Given the description of an element on the screen output the (x, y) to click on. 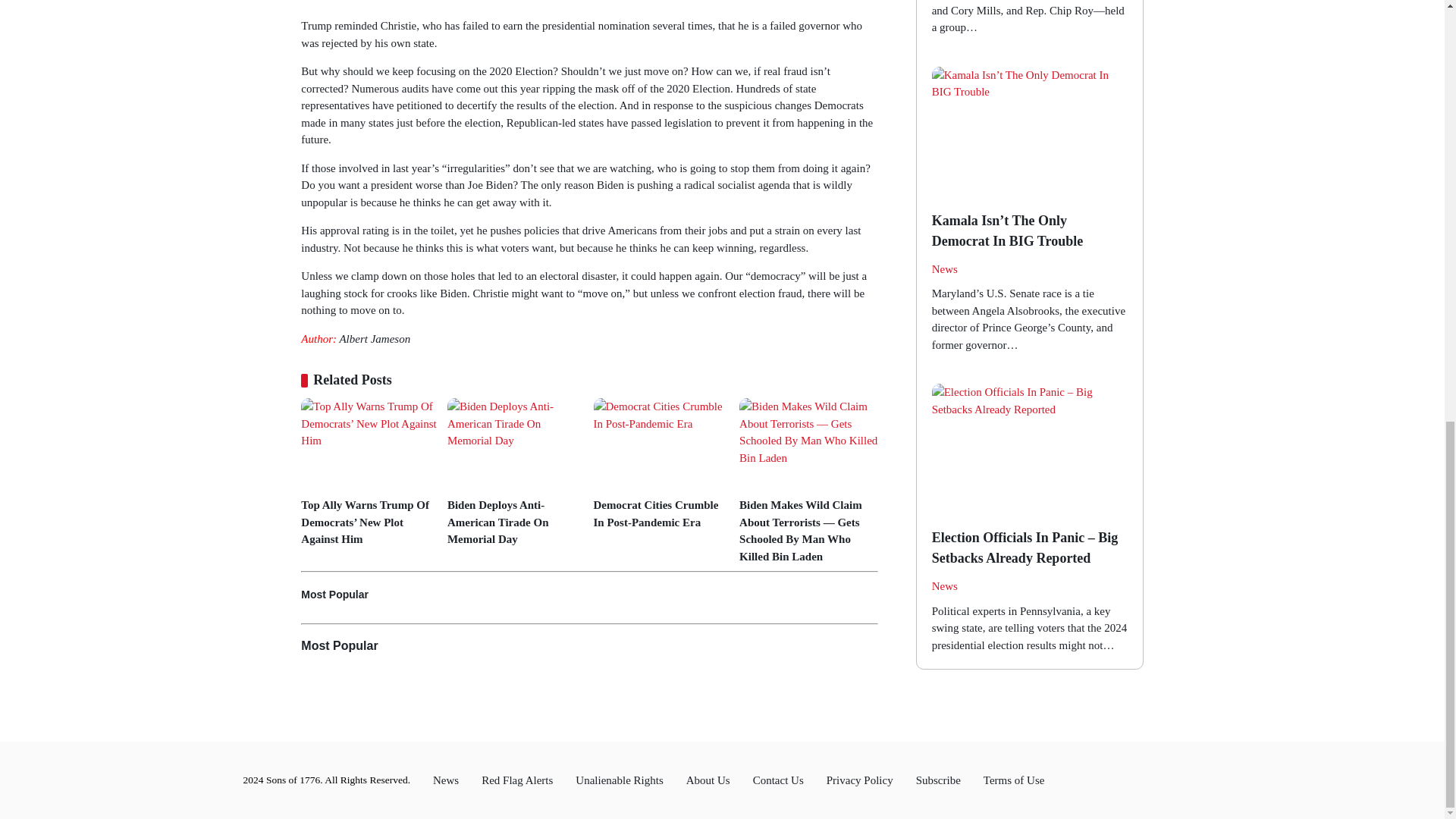
Biden Deploys Anti-American Tirade On Memorial Day (516, 521)
News (944, 269)
News (944, 586)
Democrat Cities Crumble In Post-Pandemic Era (662, 513)
